Given the description of an element on the screen output the (x, y) to click on. 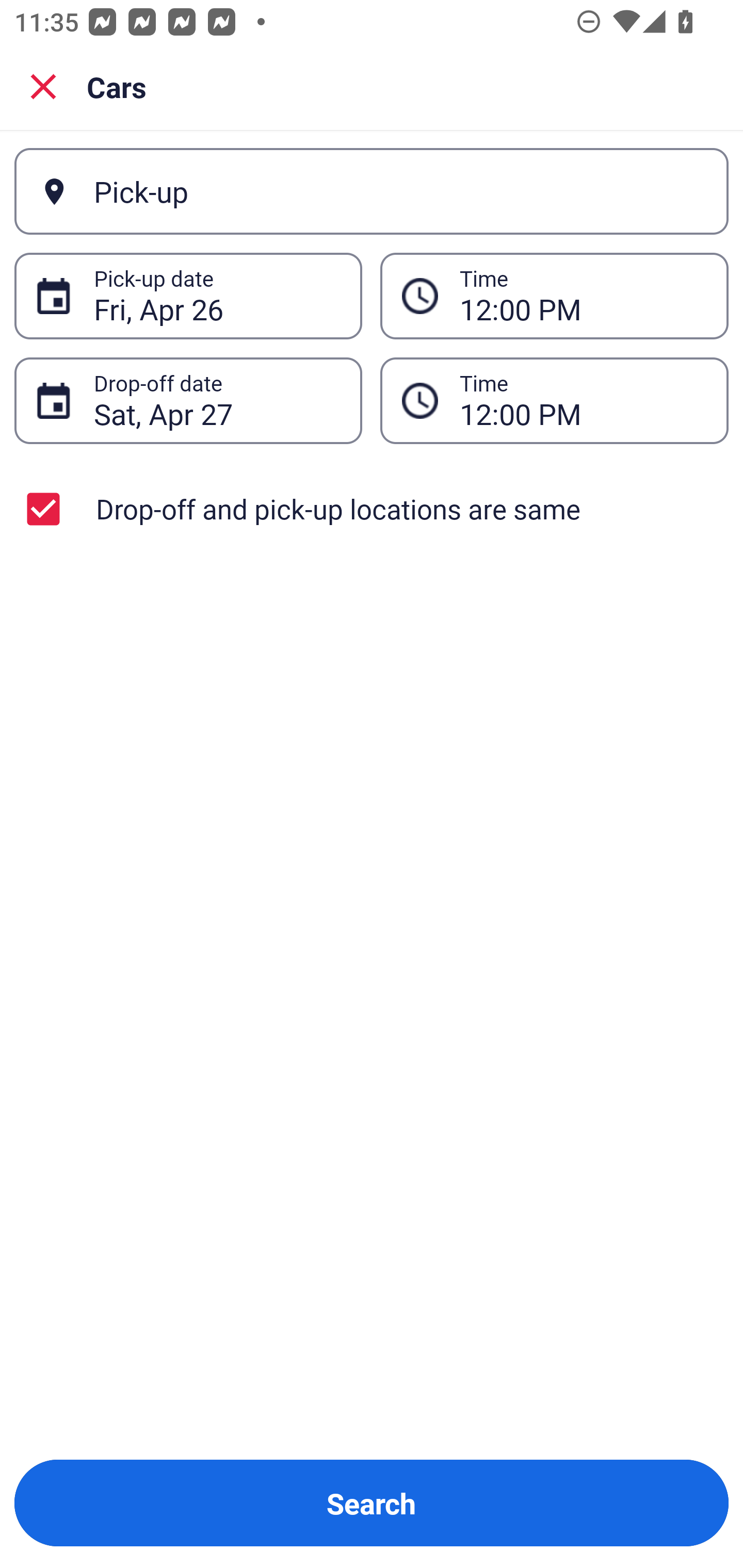
Close search screen (43, 86)
Pick-up (371, 191)
Fri, Apr 26 Pick-up date (188, 295)
12:00 PM (554, 295)
Fri, Apr 26 (216, 296)
12:00 PM (582, 296)
Sat, Apr 27 Drop-off date (188, 400)
12:00 PM (554, 400)
Sat, Apr 27 (216, 400)
12:00 PM (582, 400)
Drop-off and pick-up locations are same (371, 508)
Search Button Search (371, 1502)
